Given the description of an element on the screen output the (x, y) to click on. 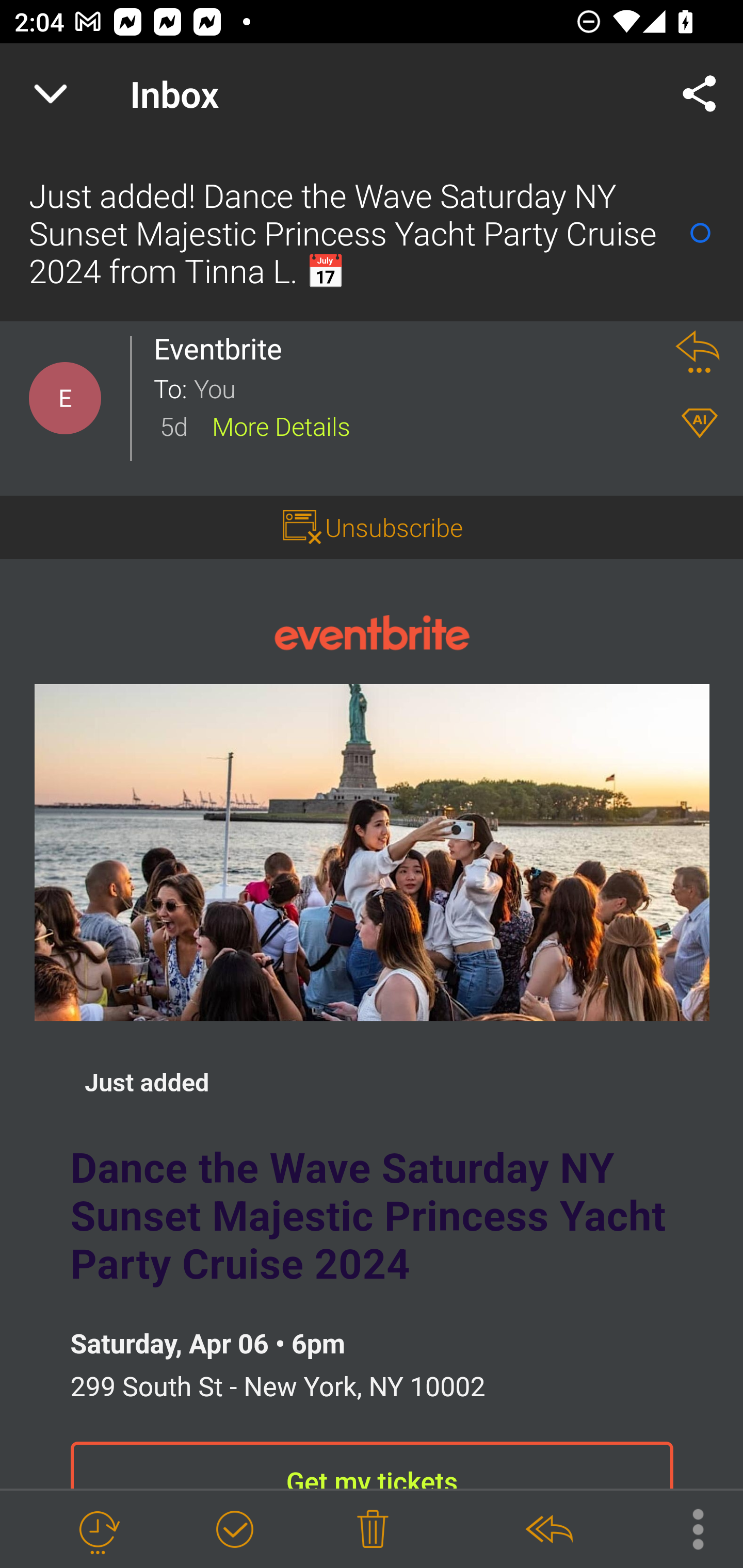
Navigate up (50, 93)
Share (699, 93)
Mark as Read (699, 232)
Eventbrite (222, 348)
Contact Details (64, 398)
You (422, 387)
More Details (280, 424)
Unsubscribe (393, 526)
Eventbrite (371, 631)
Get my tickets (371, 1464)
More Options (687, 1528)
Snooze (97, 1529)
Mark as Done (234, 1529)
Delete (372, 1529)
Reply All (548, 1529)
